Given the description of an element on the screen output the (x, y) to click on. 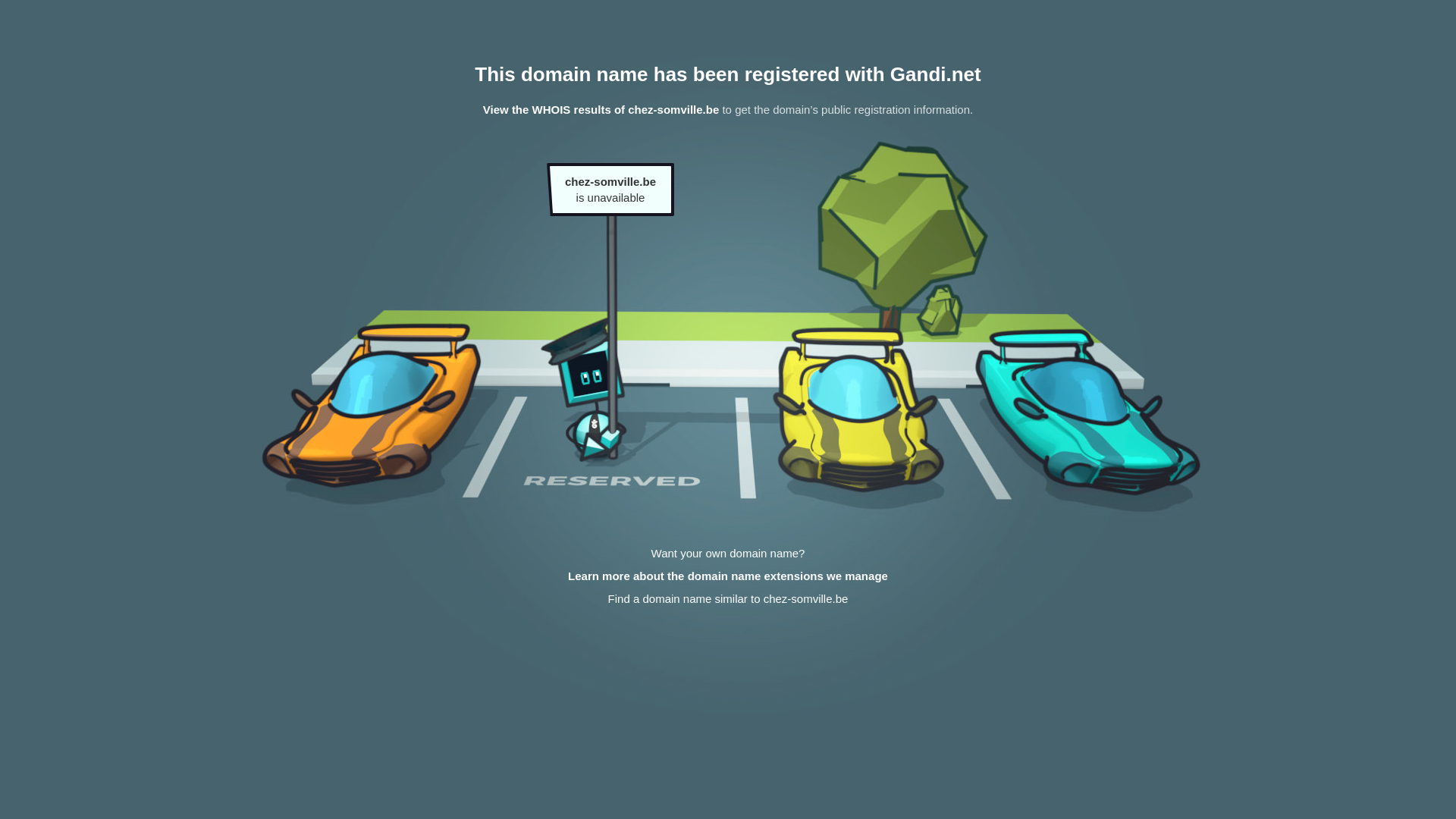
Learn more about the domain name extensions we manage Element type: text (727, 575)
Find a domain name similar to chez-somville.be Element type: text (728, 598)
View the WHOIS results of chez-somville.be Element type: text (600, 109)
